Given the description of an element on the screen output the (x, y) to click on. 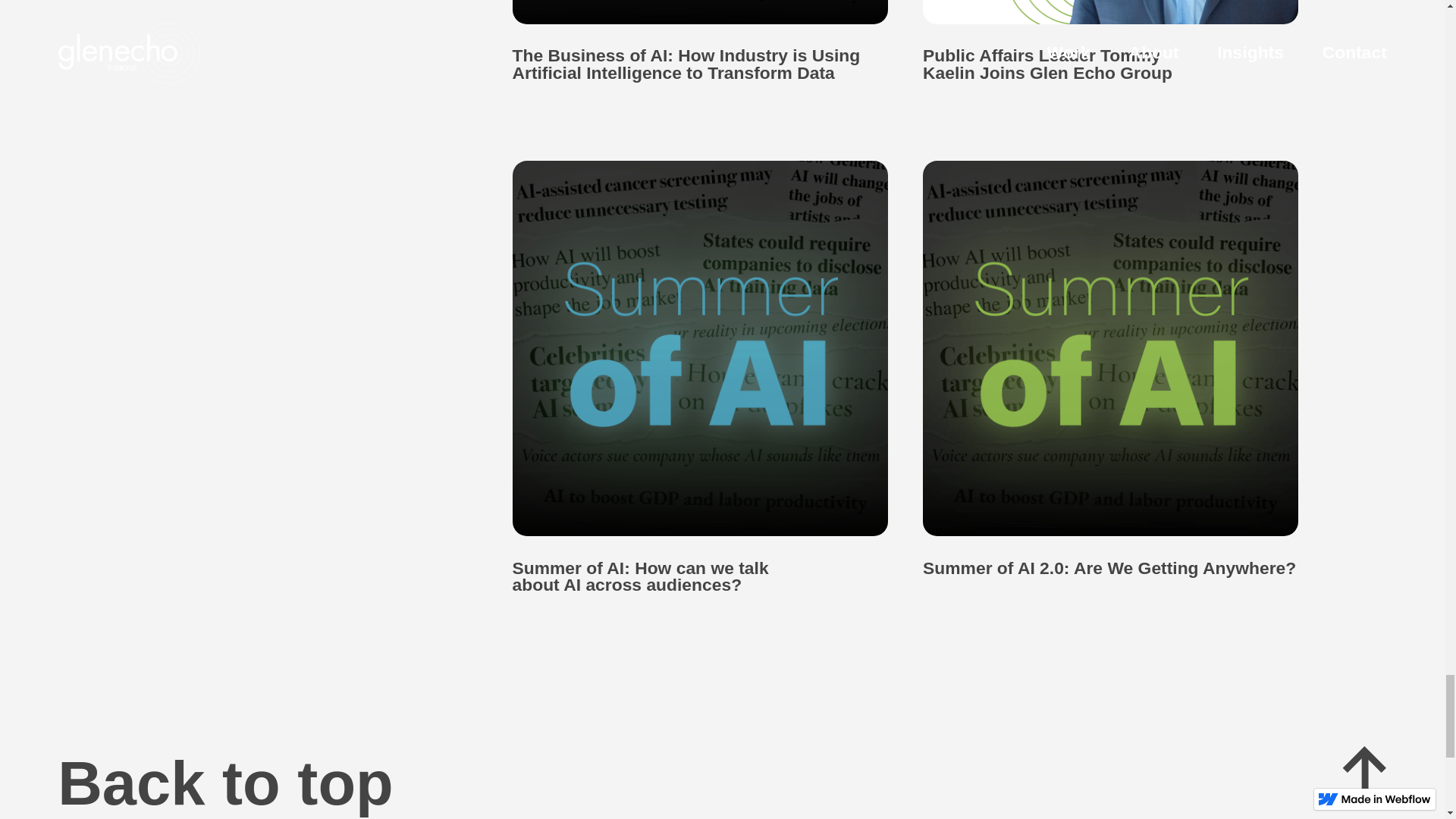
Back to top (722, 782)
Public Affairs Leader Tommy Kaelin Joins Glen Echo Group (1117, 40)
Back to top (722, 782)
